Given the description of an element on the screen output the (x, y) to click on. 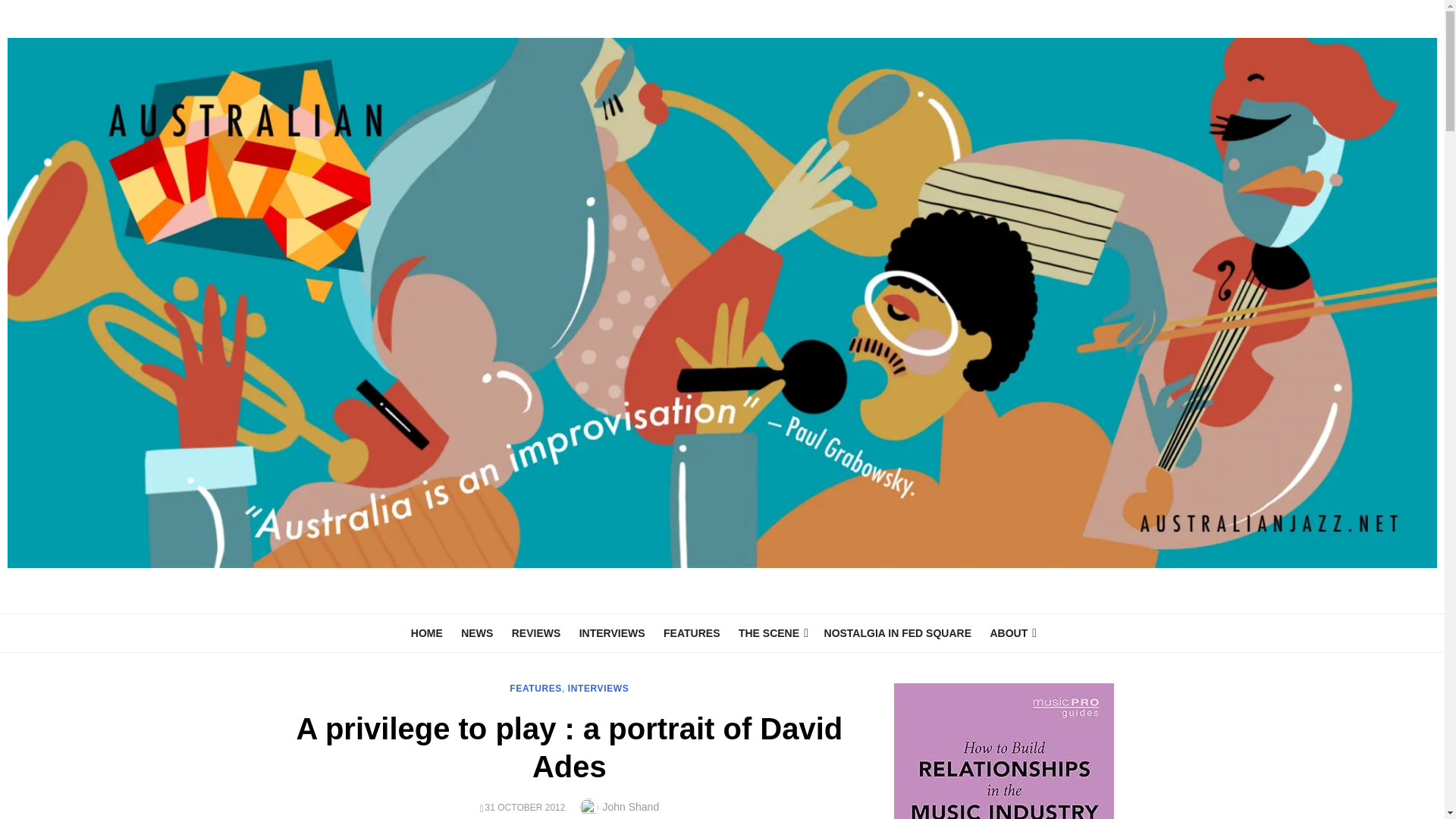
REVIEWS (536, 633)
FEATURES (691, 633)
HOME (426, 633)
THE SCENE (771, 633)
INTERVIEWS (612, 633)
NEWS (476, 633)
